Given the description of an element on the screen output the (x, y) to click on. 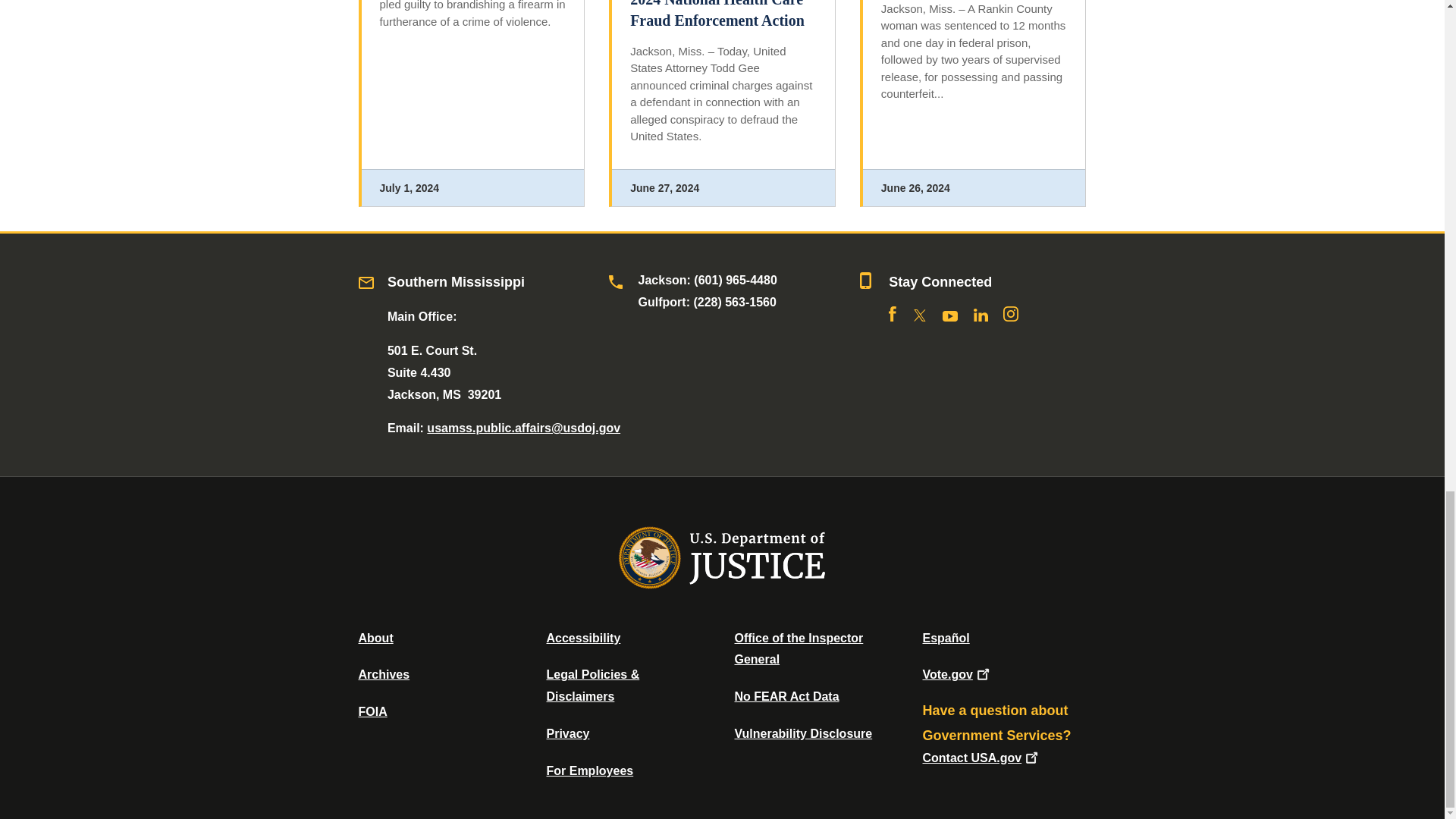
Department of Justice Archive (383, 674)
Legal Policies and Disclaimers (592, 685)
For Employees (589, 770)
Accessibility Statement (583, 637)
Data Posted Pursuant To The No Fear Act (785, 696)
Office of Information Policy (372, 711)
About DOJ (375, 637)
